Given the description of an element on the screen output the (x, y) to click on. 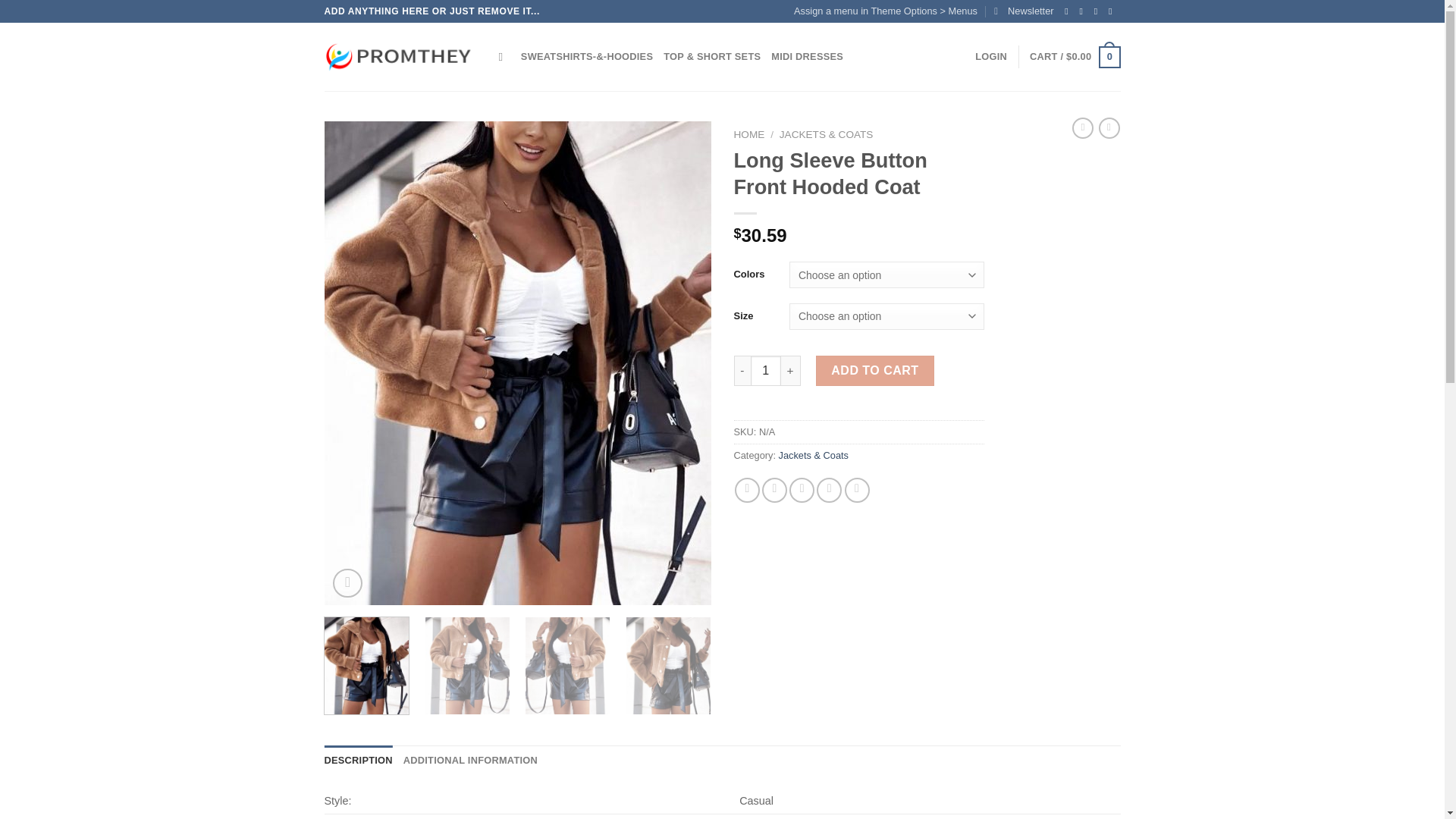
1 (765, 370)
Newsletter (1023, 11)
MIDI DRESSES (807, 56)
Qty (765, 370)
Promthey (400, 57)
Cart (1074, 57)
HOME (749, 134)
LOGIN (991, 56)
